Given the description of an element on the screen output the (x, y) to click on. 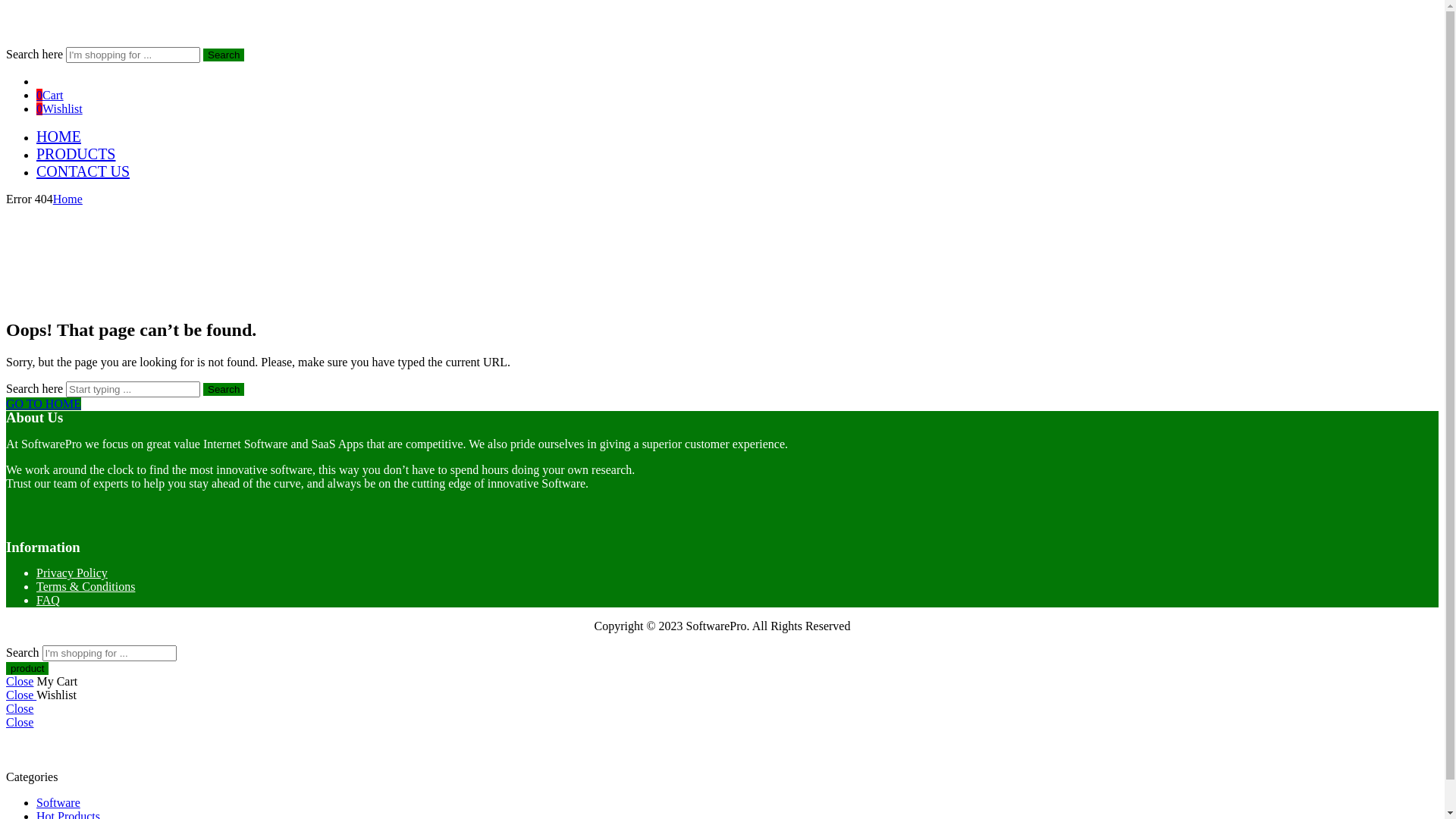
Search Element type: text (223, 388)
Close Element type: text (19, 721)
Close Element type: text (21, 694)
Privacy Policy Element type: text (71, 572)
FAQ Element type: text (47, 599)
Search Element type: text (223, 54)
HOME Element type: text (58, 136)
CONTACT US Element type: text (82, 171)
GO TO HOME Element type: text (43, 403)
Home Element type: text (67, 198)
PRODUCTS Element type: text (75, 153)
0Wishlist Element type: text (59, 108)
Terms & Conditions Element type: text (85, 586)
Software Element type: text (58, 802)
Close Element type: text (19, 708)
0Cart Element type: text (49, 94)
product Element type: text (27, 668)
Close Element type: text (19, 680)
